Given the description of an element on the screen output the (x, y) to click on. 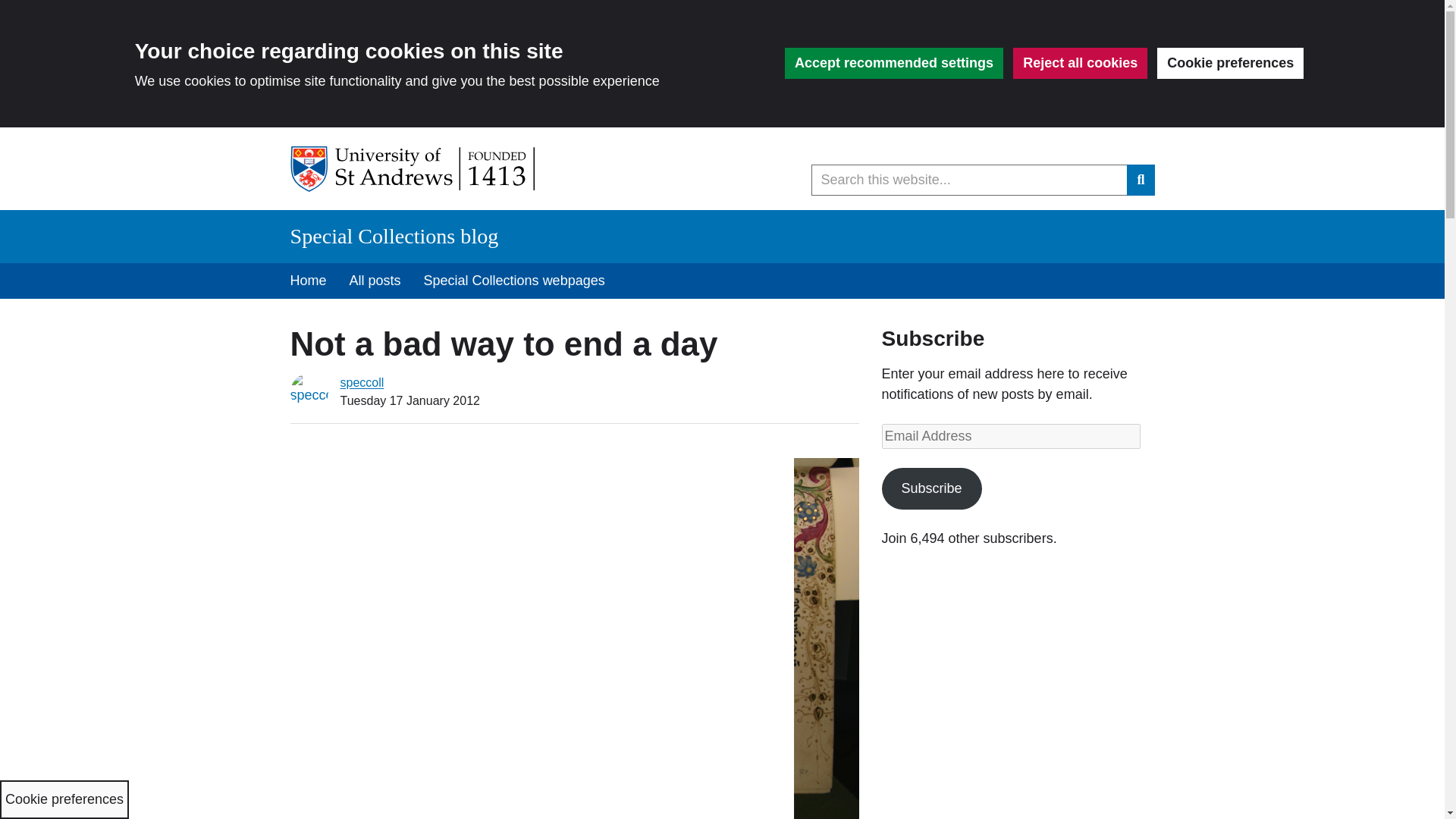
Home (308, 280)
Posts by speccoll (361, 382)
Subscribe (930, 488)
Special Collections blog (393, 236)
speccoll (361, 382)
Special Collections webpages (513, 280)
Reject all cookies (1080, 62)
Accept recommended settings (893, 62)
All posts (374, 280)
